Given the description of an element on the screen output the (x, y) to click on. 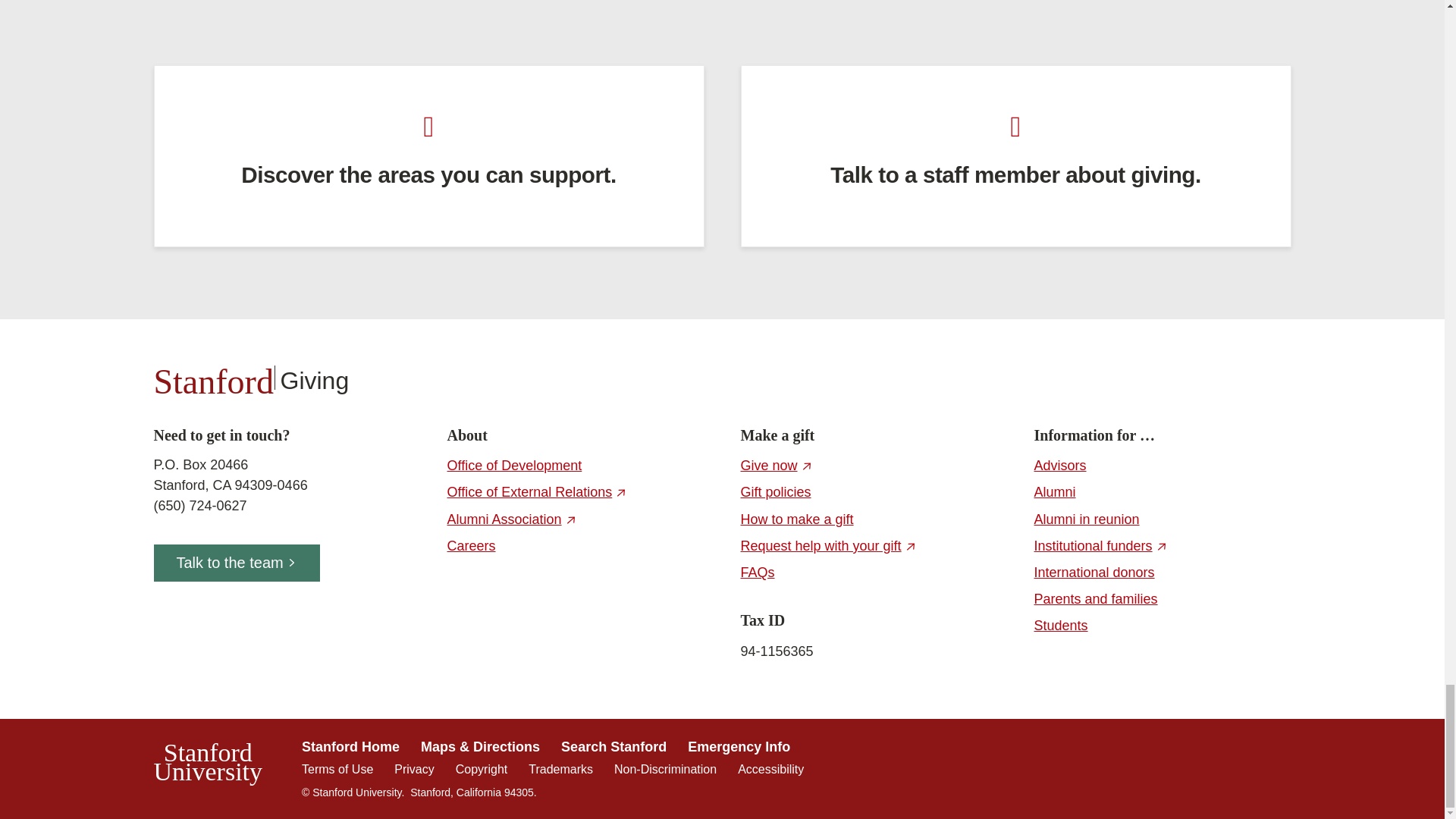
Report web accessibility issues (770, 768)
Terms of use for sites (336, 768)
Report alleged copyright infringement (480, 768)
Privacy and cookie policy (413, 768)
Non-discrimination policy (665, 768)
Ownership and use of Stanford trademarks and images (560, 768)
